Given the description of an element on the screen output the (x, y) to click on. 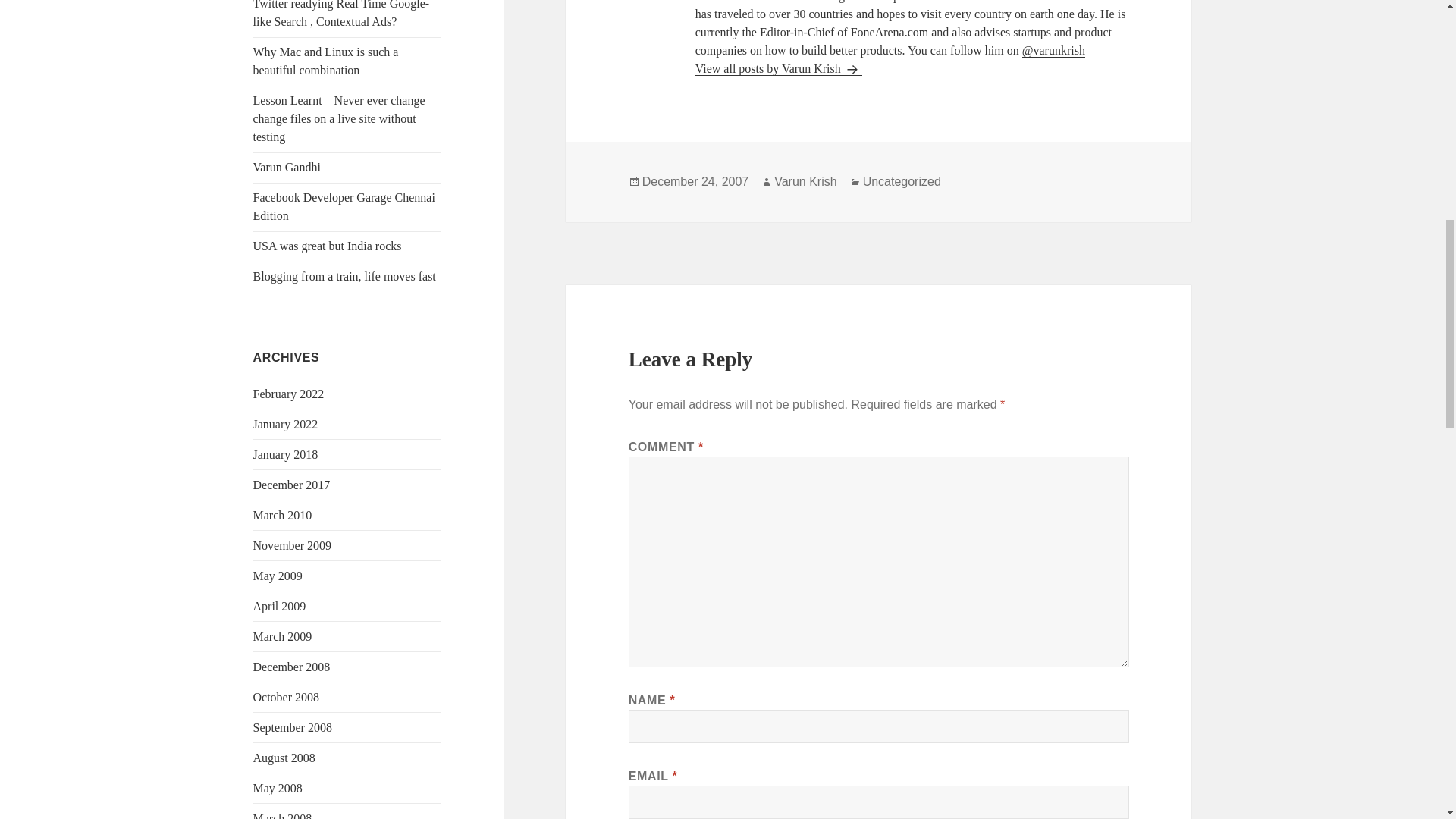
January 2018 (285, 454)
September 2008 (292, 727)
May 2009 (277, 575)
Why Mac and Linux is such a beautiful combination (325, 60)
March 2009 (283, 635)
Facebook Developer Garage Chennai Edition (344, 205)
March 2008 (283, 815)
November 2009 (292, 545)
January 2022 (285, 423)
